Given the description of an element on the screen output the (x, y) to click on. 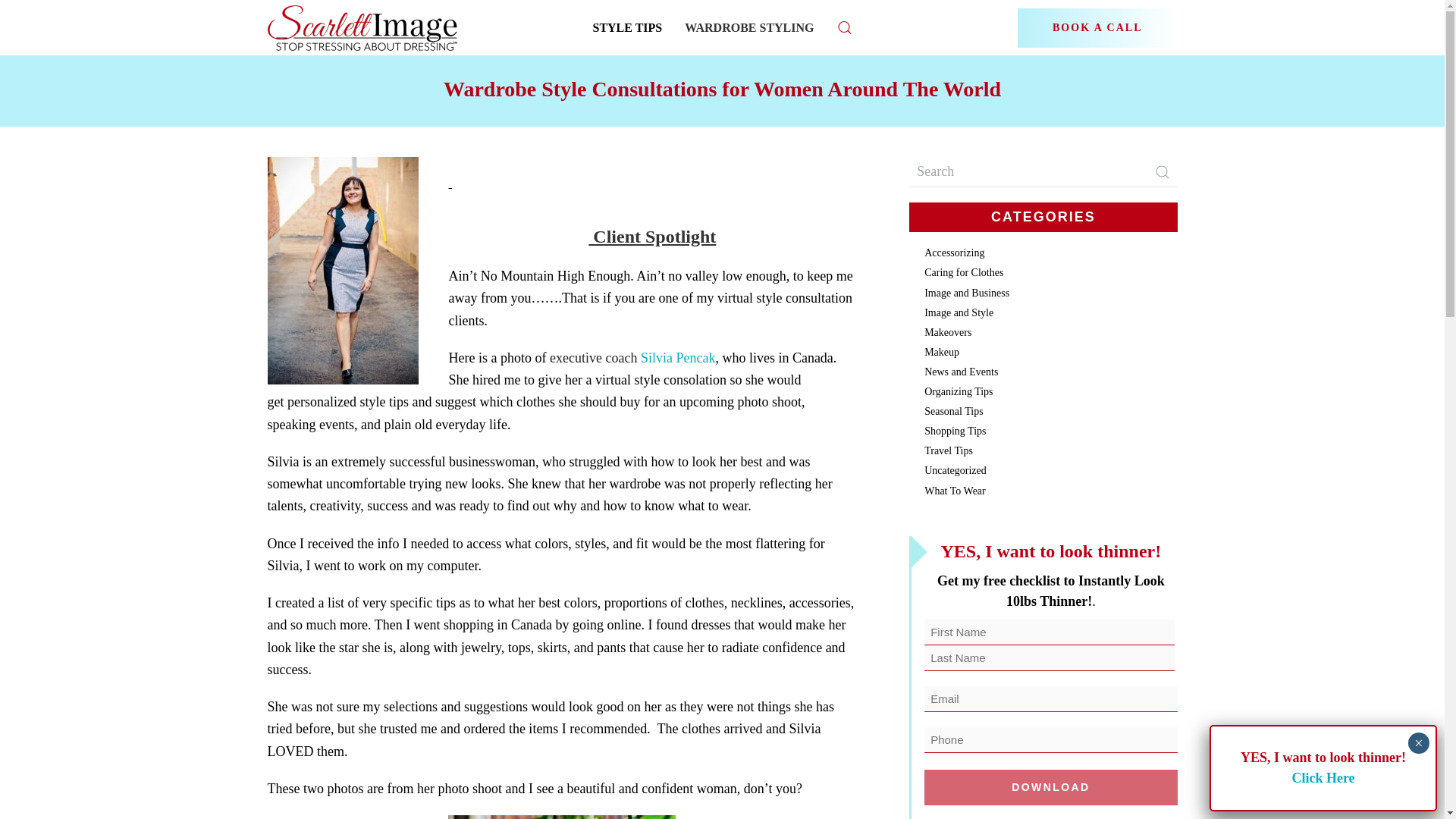
Image and Style (958, 312)
Silvia Pencak (677, 357)
Organizing Tips (958, 391)
Image and Business (966, 292)
Accessorizing (954, 252)
Makeup (941, 351)
Travel Tips (948, 450)
Makeovers (947, 332)
Download (1050, 787)
What To Wear (954, 490)
Seasonal Tips (953, 410)
News and Events (960, 371)
STYLE TIPS (627, 27)
Caring for Clothes (963, 272)
Download (1050, 787)
